Given the description of an element on the screen output the (x, y) to click on. 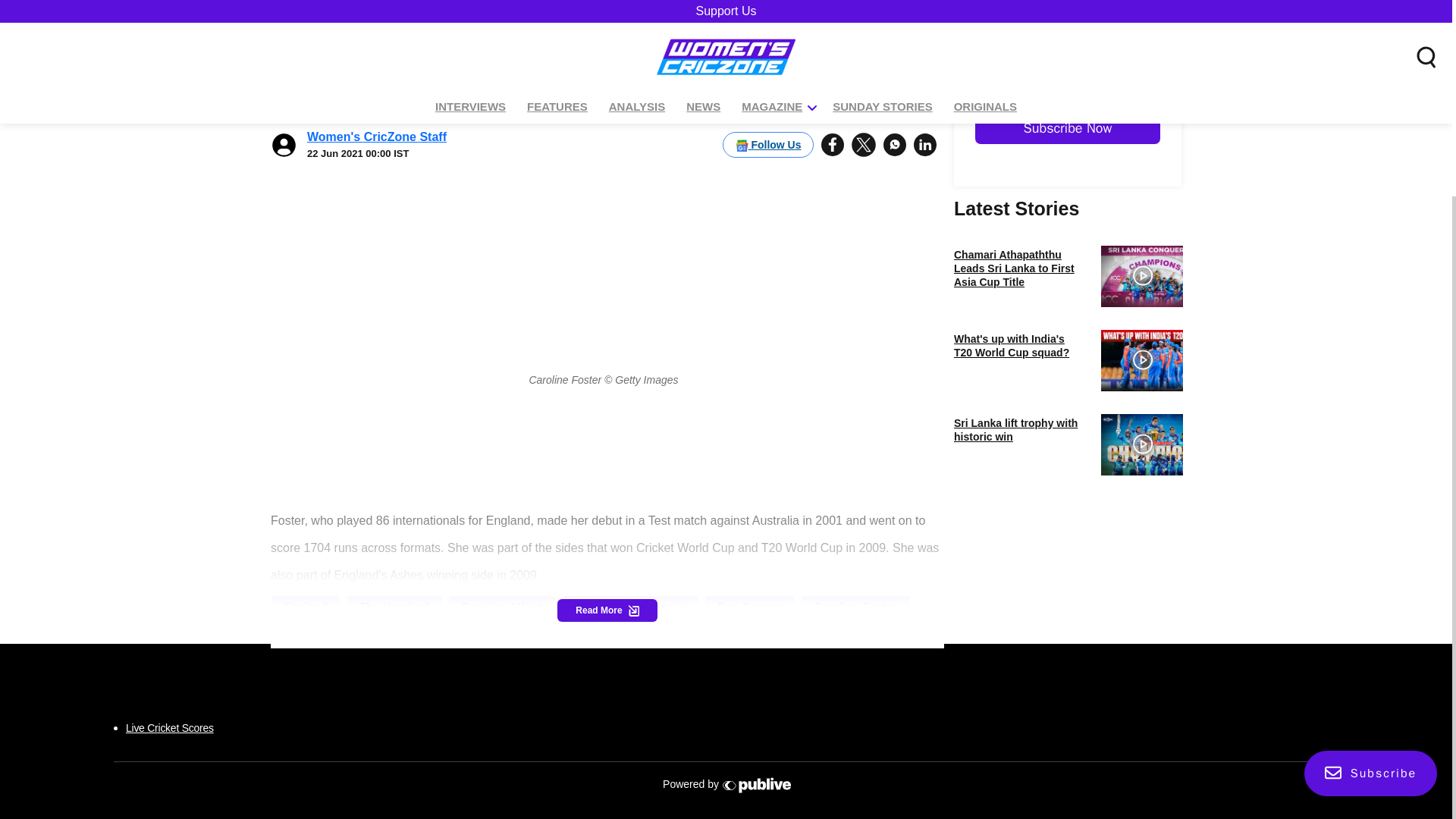
Follow Us (767, 82)
Birmingham Phoenix (630, 606)
England (305, 606)
Read More (606, 609)
Ben Sawyer (749, 606)
Women's CricZone Staff (376, 74)
The Hundred (394, 606)
Caroline Atkins (502, 606)
The Hundred, 2021 (335, 632)
Caroline Foster (855, 606)
